Given the description of an element on the screen output the (x, y) to click on. 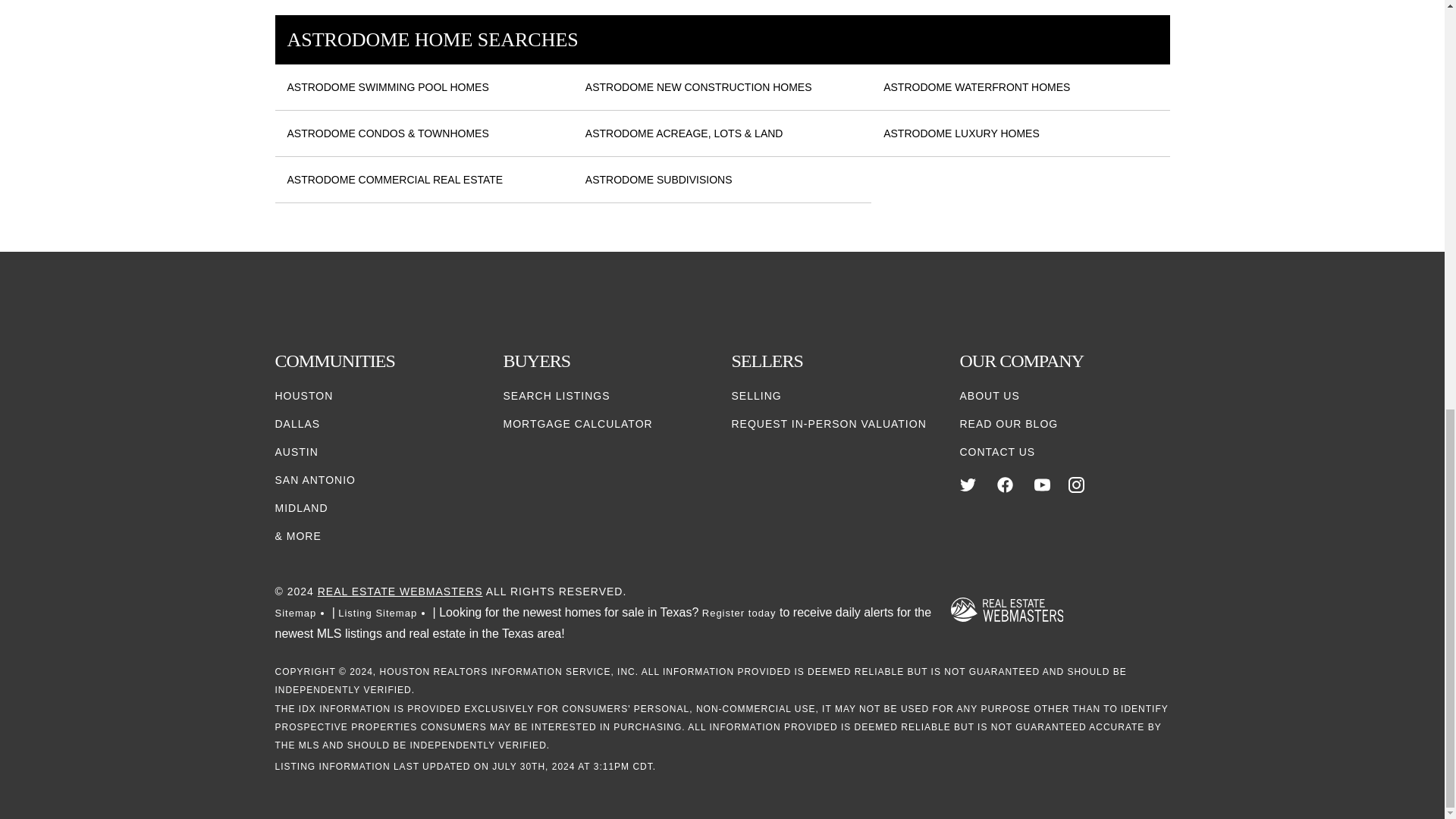
Astrodome Subdivisions (658, 179)
Astrodome Condos Townhomes (386, 133)
Astrodome Swimming Pool Homes (386, 87)
Astrodome Luxury Homes (961, 133)
Astrodome Waterfront Homes (976, 87)
Astrodome Acreage Homes (684, 133)
FACEBOOK (1005, 484)
TWITTER (967, 484)
Astrodome New Construction Homes (698, 87)
YOUTUBE (1041, 484)
Astrodome Commercial real estate (394, 179)
